Given the description of an element on the screen output the (x, y) to click on. 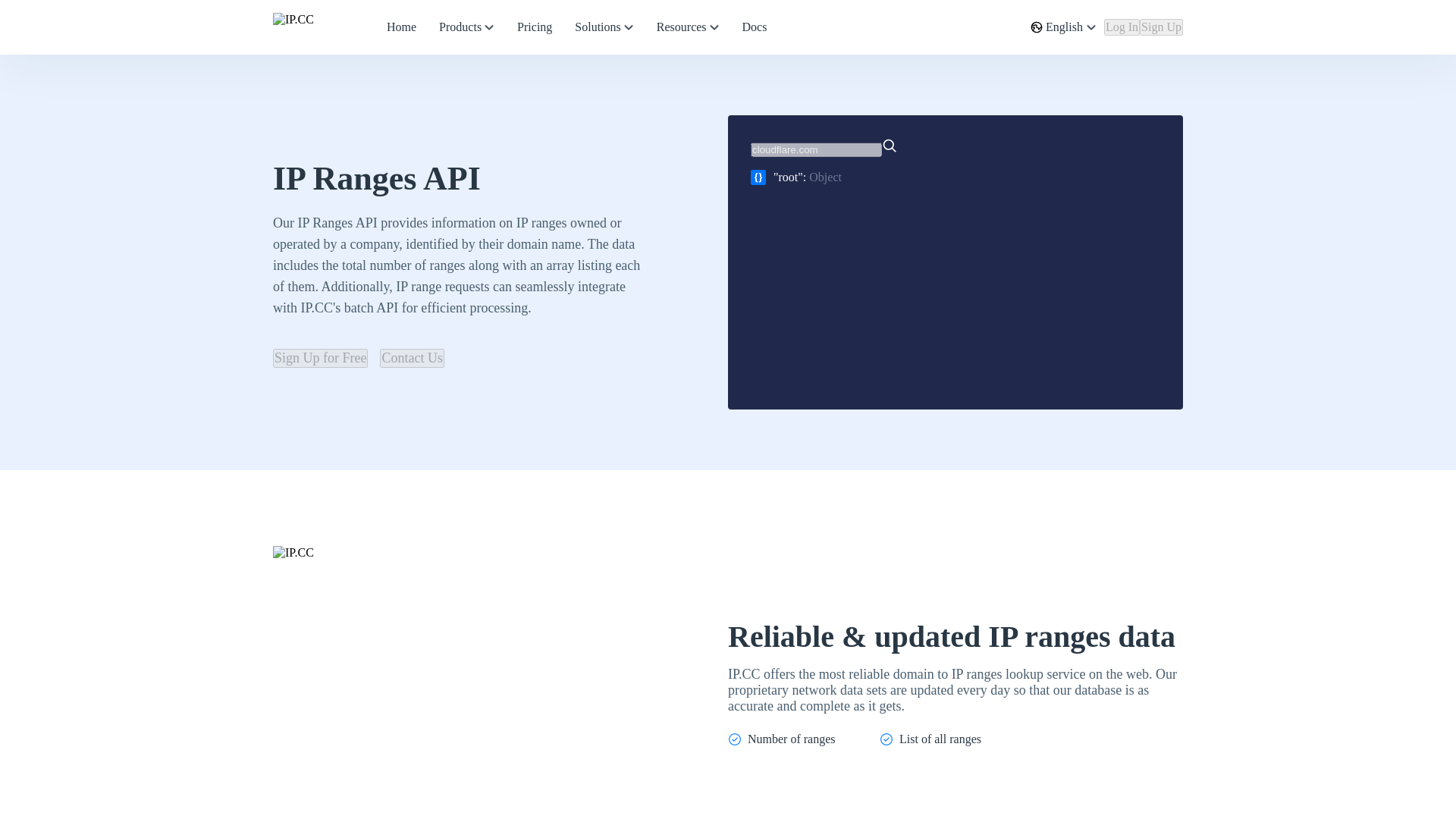
Solutions (603, 26)
Home (400, 26)
Resources (687, 26)
Pricing (534, 26)
Products (466, 26)
cloudflare.com (816, 149)
